Given the description of an element on the screen output the (x, y) to click on. 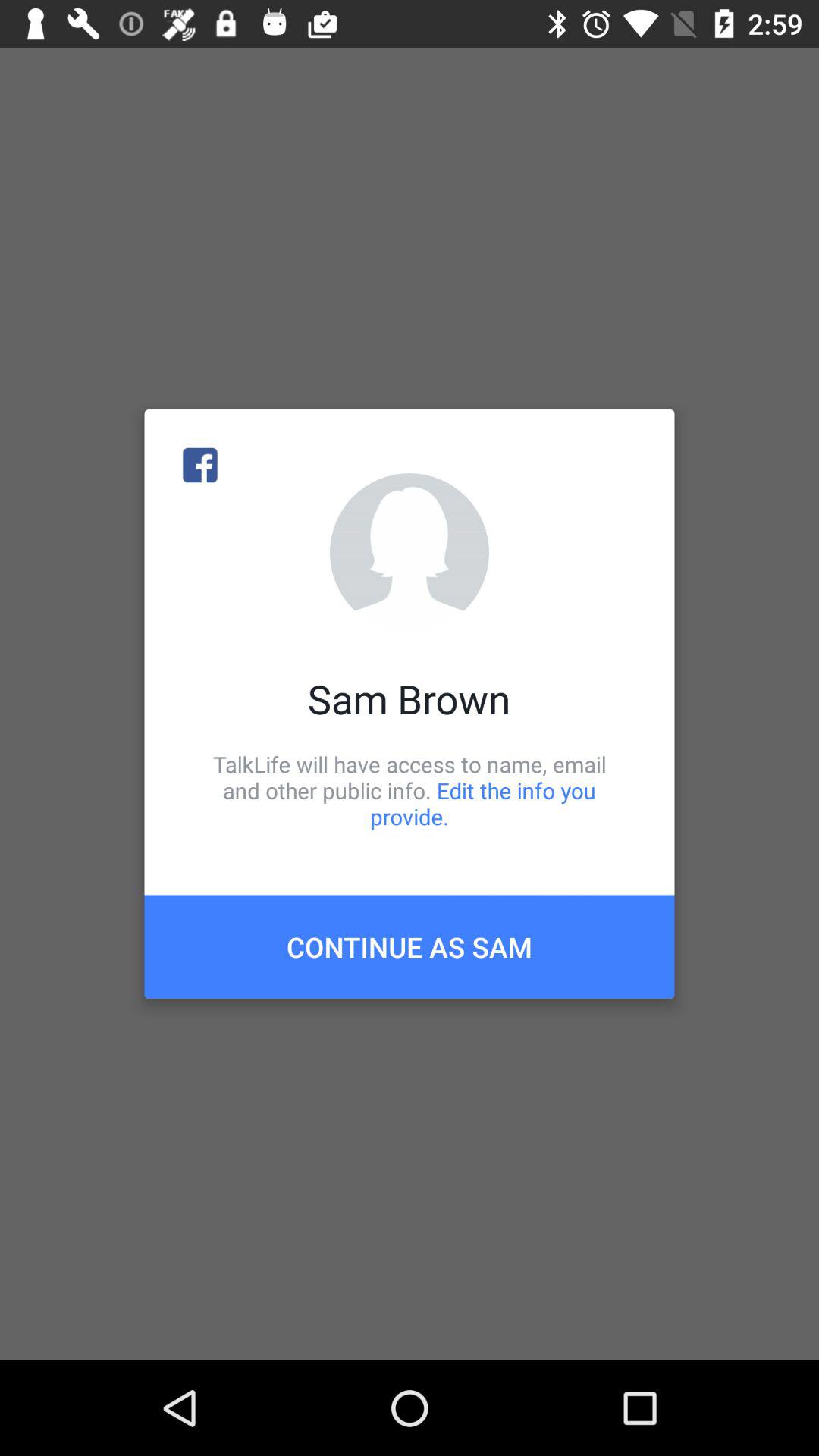
select the continue as sam item (409, 946)
